Given the description of an element on the screen output the (x, y) to click on. 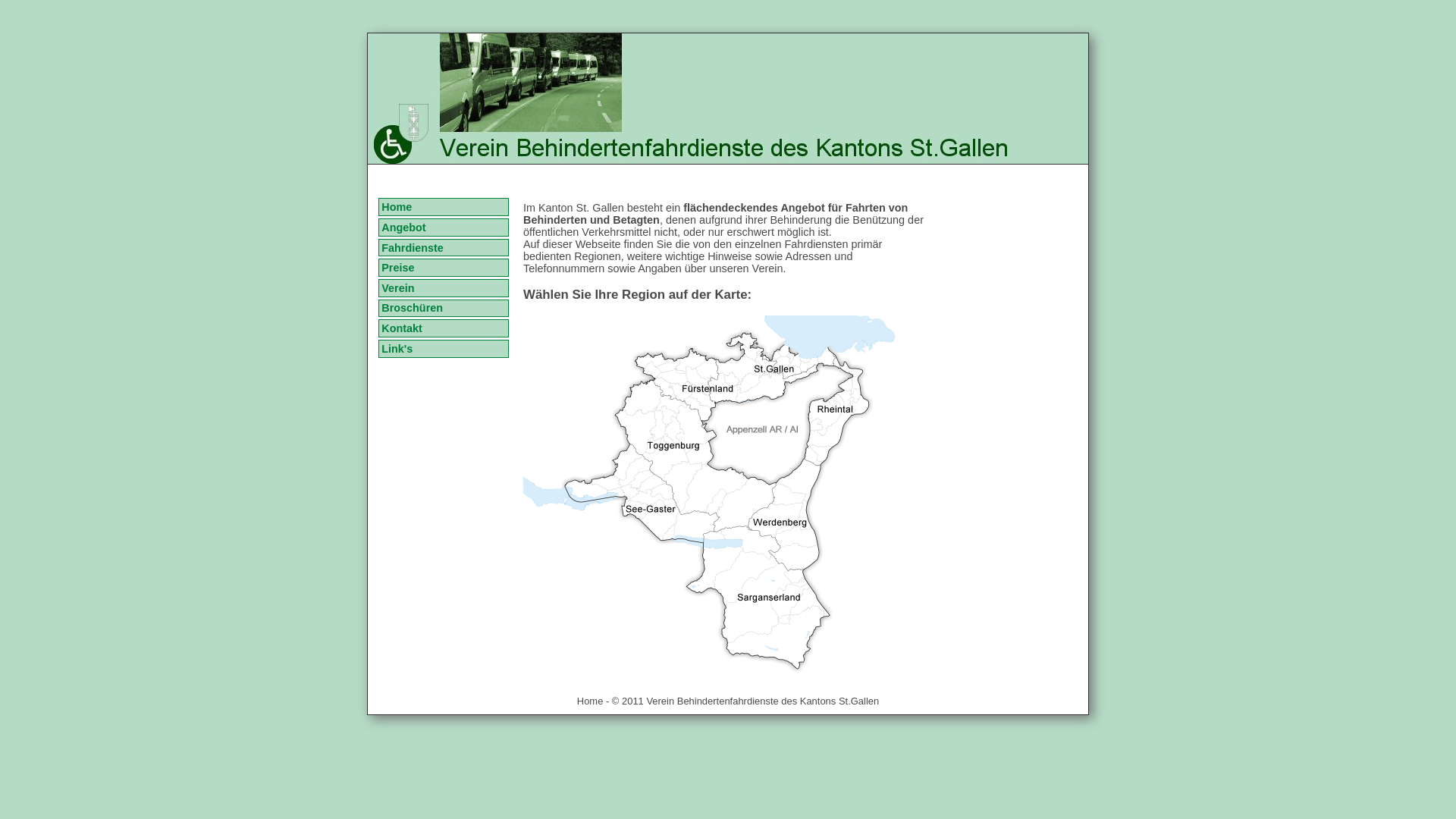
Home Element type: text (443, 206)
Kontakt Element type: text (443, 328)
Preise Element type: text (443, 267)
Verein Element type: text (443, 288)
Fahrdienste Element type: text (443, 247)
Angebot Element type: text (443, 227)
Link's Element type: text (443, 348)
